Given the description of an element on the screen output the (x, y) to click on. 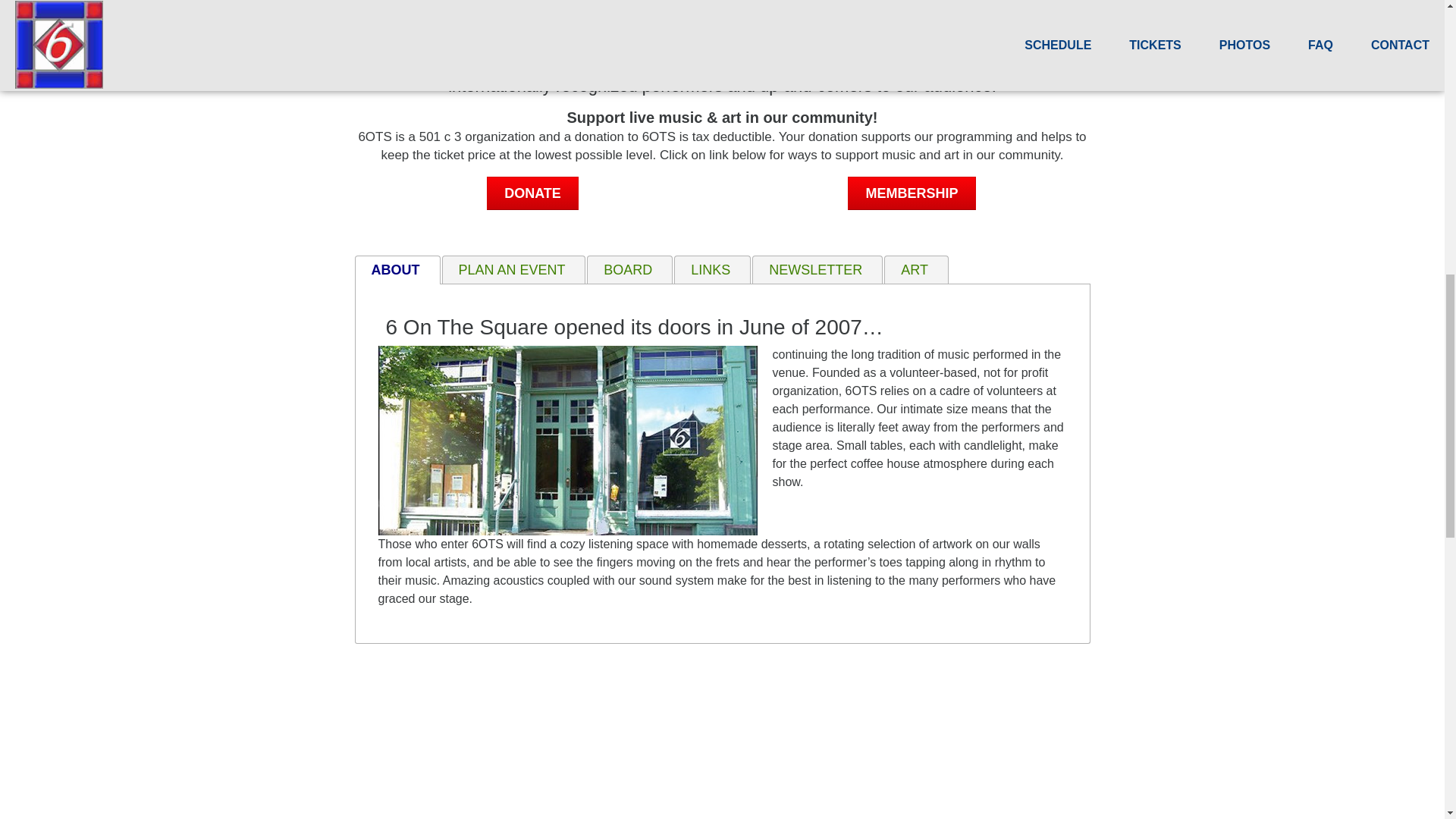
Donate (532, 192)
DONATE (532, 192)
MEMBERSHIP (911, 192)
MEMBERSHIP (911, 192)
Membership (911, 192)
DONATE (532, 192)
